Given the description of an element on the screen output the (x, y) to click on. 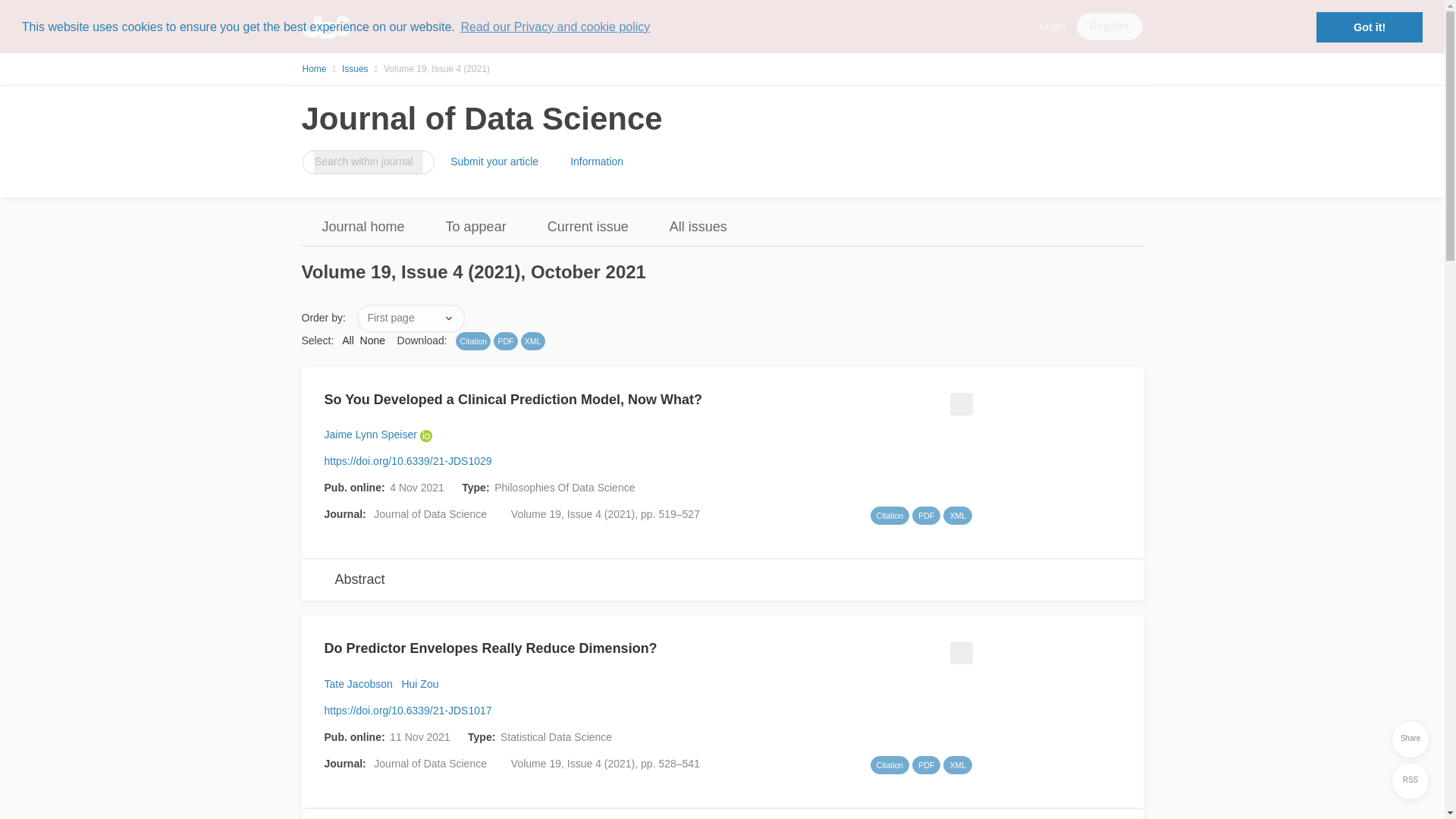
View author details on orcid.org (427, 434)
Citation (472, 341)
Hui Zou (419, 684)
Information (596, 162)
All (347, 340)
Search for more publications by the author (419, 684)
Select article (959, 647)
Journal of Data Science (430, 513)
Get article citation (890, 515)
So You Developed a Clinical Prediction Model, Now What? (512, 404)
Journal of Data Science (481, 118)
Login (1052, 25)
PDF (504, 341)
Read our Privacy and cookie policy (555, 26)
Got it! (1369, 27)
